Given the description of an element on the screen output the (x, y) to click on. 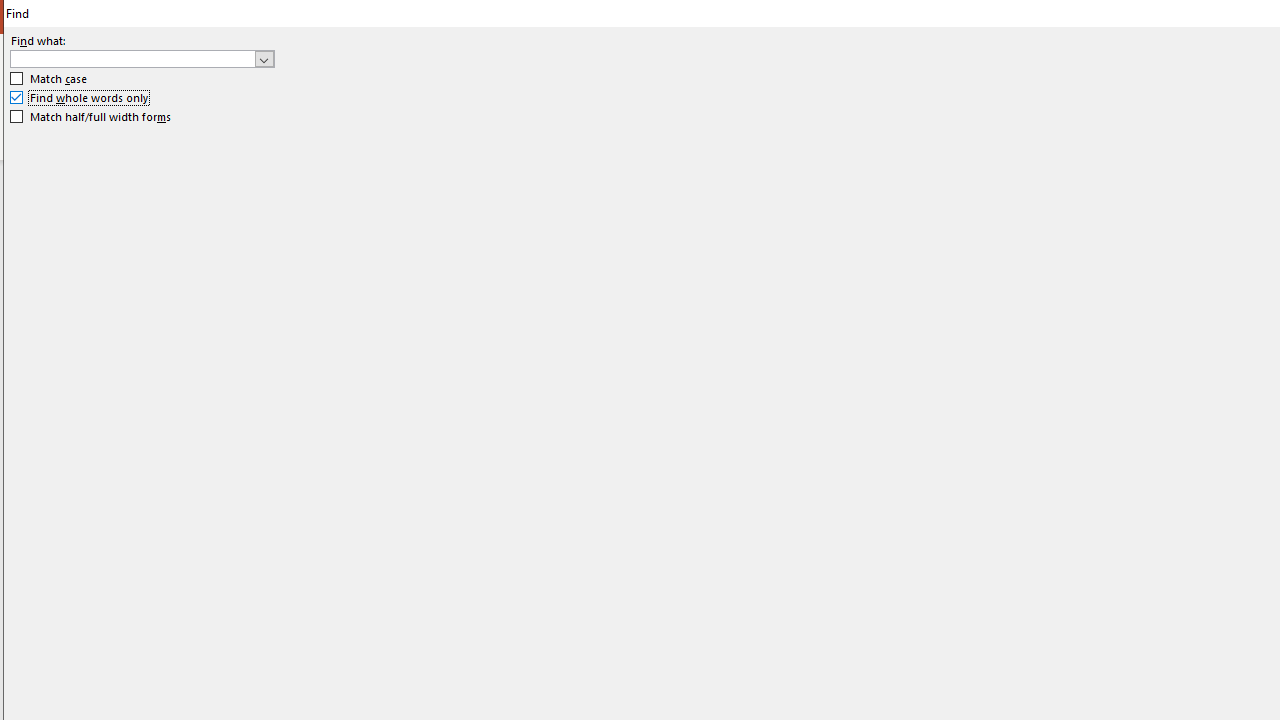
Find whole words only (79, 97)
Find what (132, 58)
Match half/full width forms (91, 116)
Find what (142, 58)
Match case (49, 79)
